Given the description of an element on the screen output the (x, y) to click on. 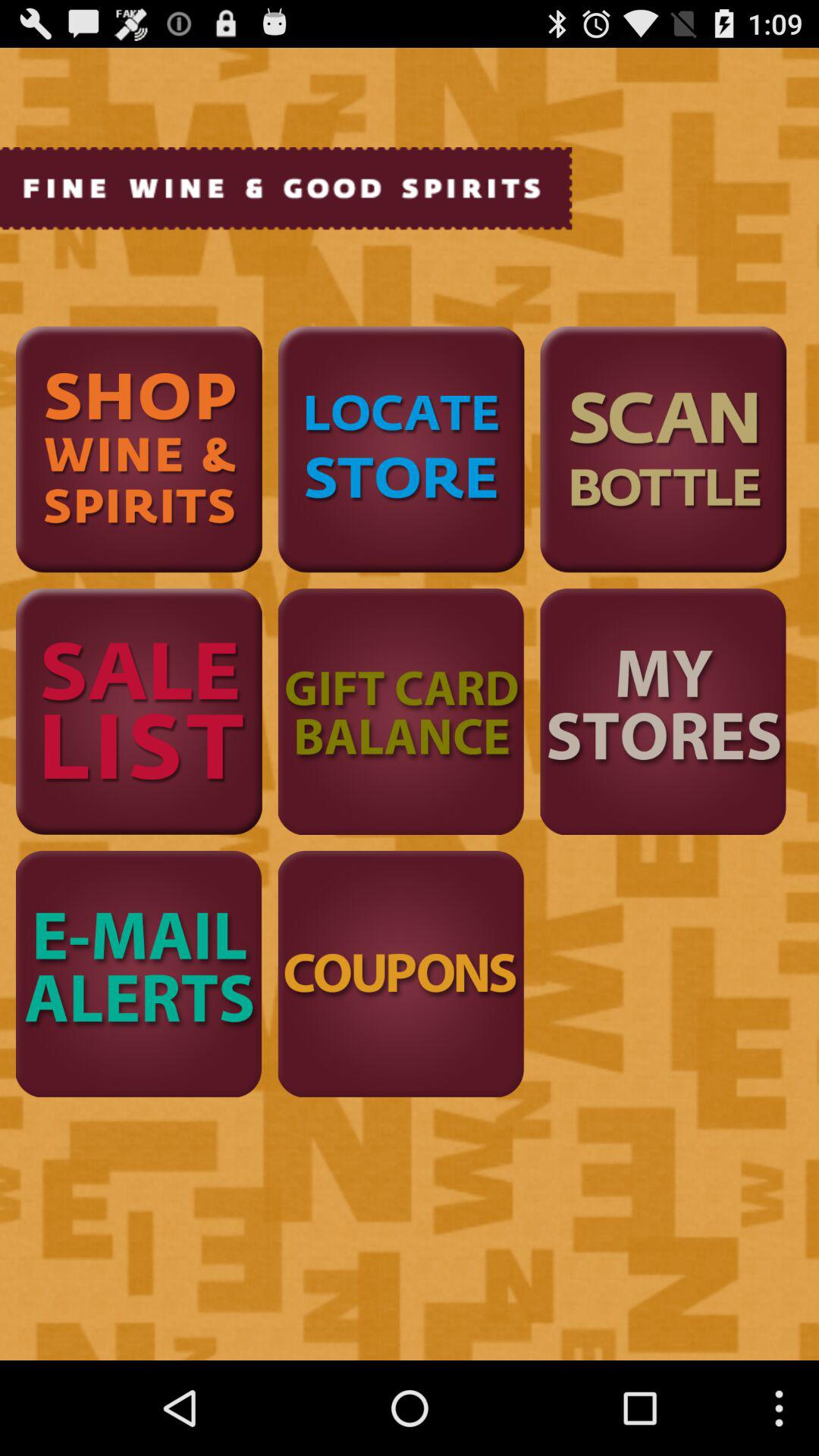
select image (138, 711)
